Given the description of an element on the screen output the (x, y) to click on. 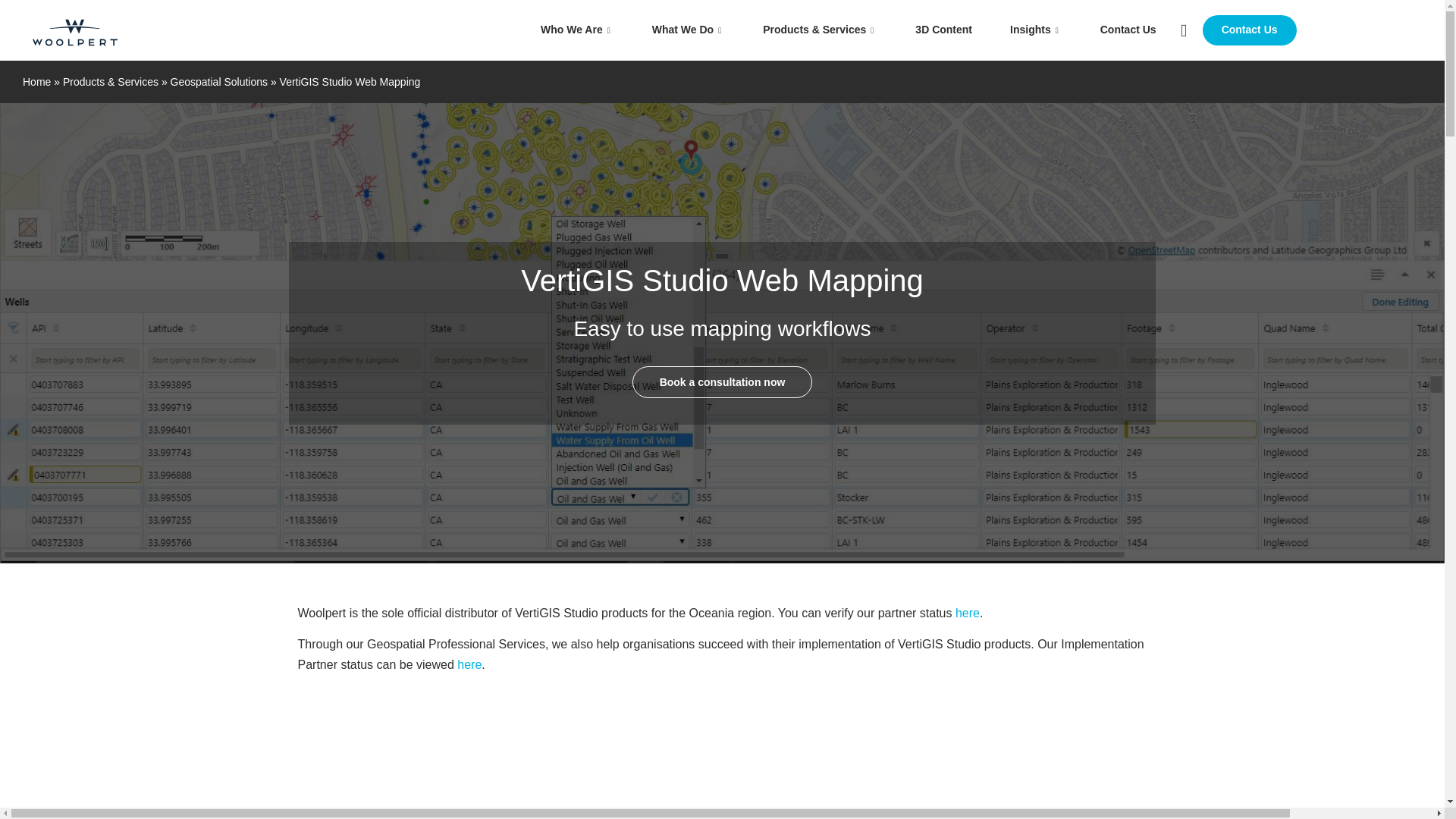
What We Do (688, 30)
Who We Are (577, 30)
